Given the description of an element on the screen output the (x, y) to click on. 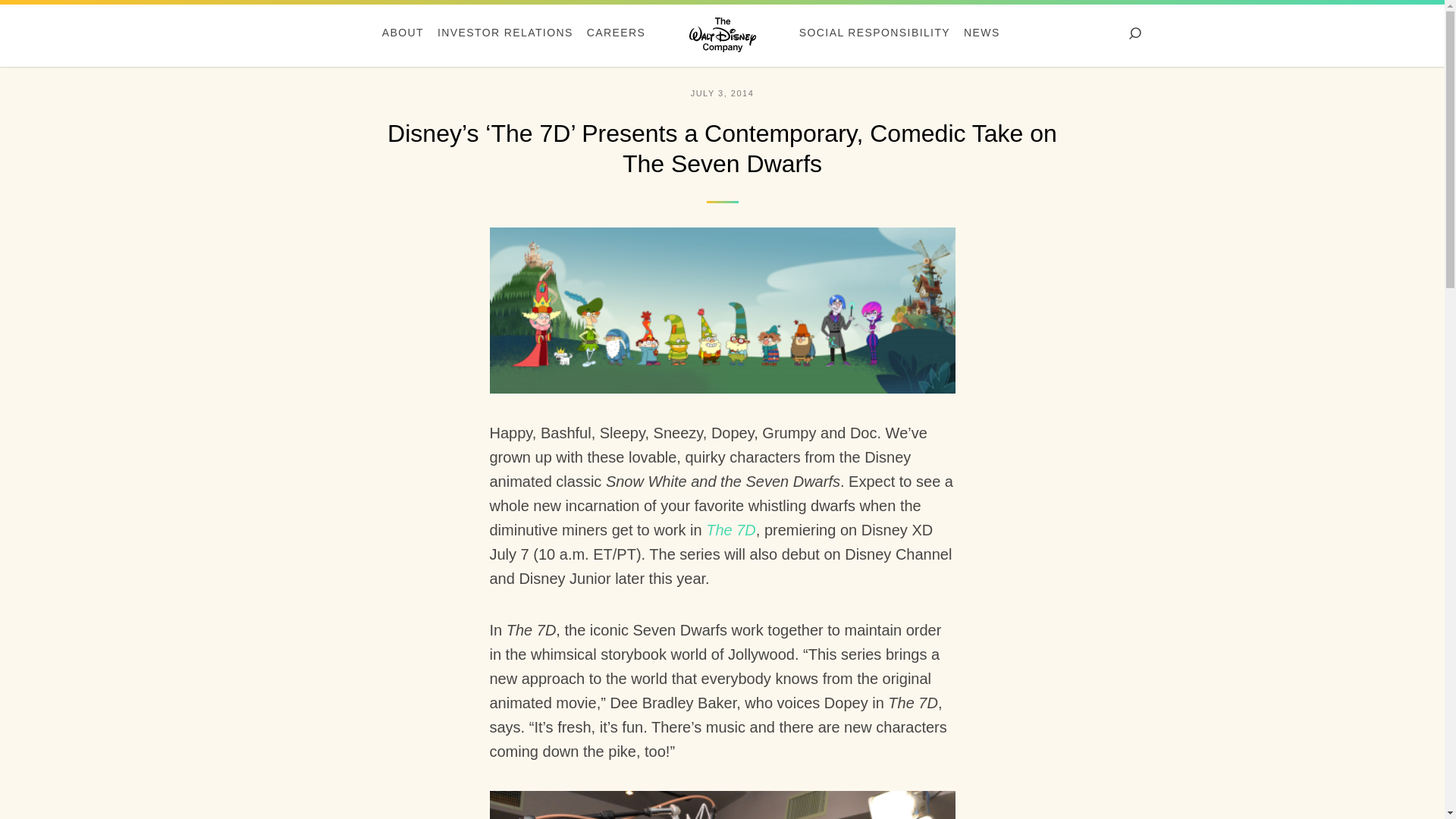
ABOUT (402, 36)
JULY 3, 2014 (722, 92)
NEWS (981, 36)
INVESTOR RELATIONS (504, 36)
The Walt Disney Company (722, 33)
The 7D (730, 529)
CAREERS (615, 36)
SOCIAL RESPONSIBILITY (874, 36)
